Given the description of an element on the screen output the (x, y) to click on. 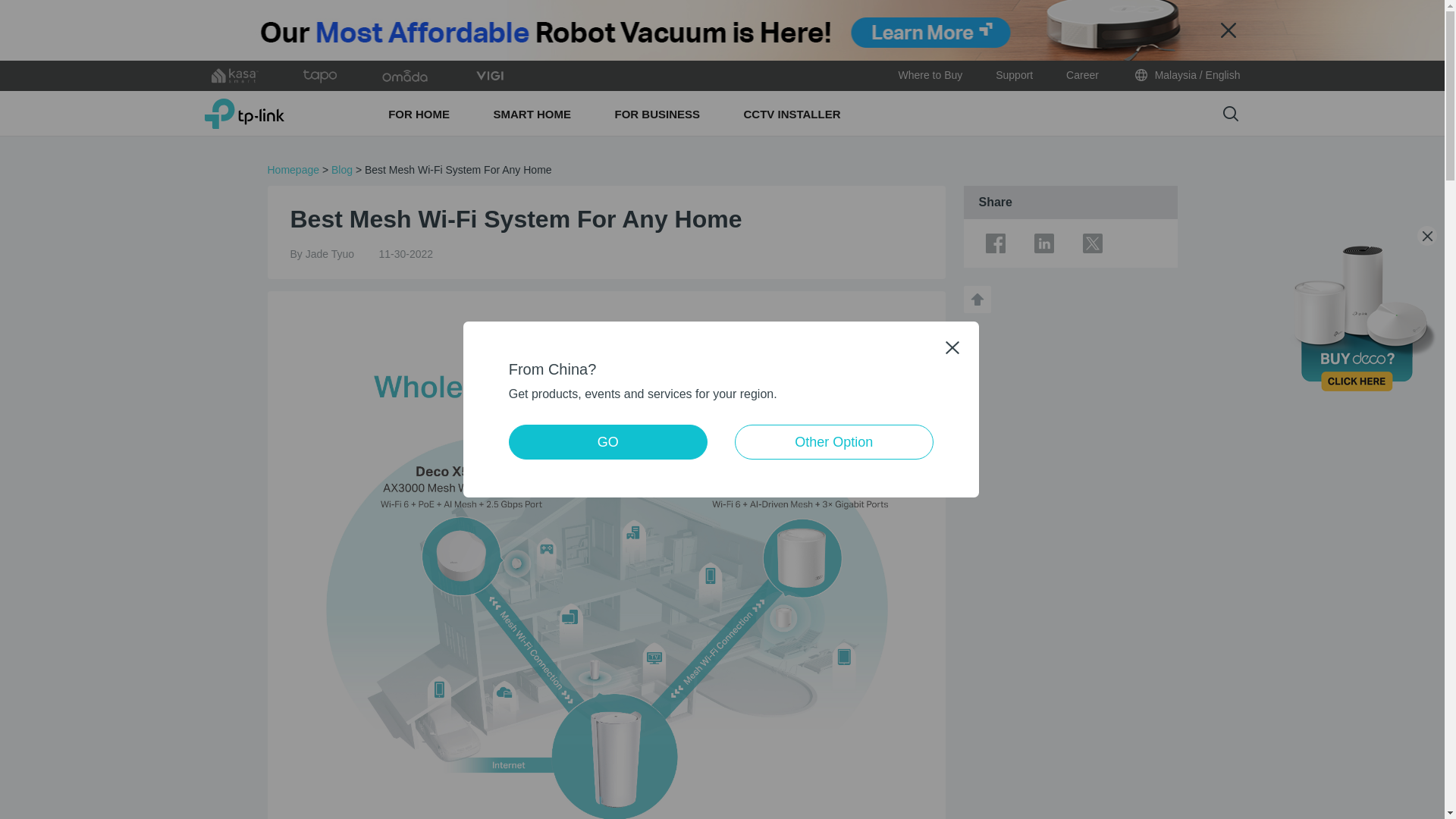
Career (1082, 75)
Search (1230, 113)
omada (404, 75)
Support (1013, 75)
Where to Buy (930, 75)
kasa (234, 75)
VIGI (489, 75)
tapo (319, 75)
FOR HOME (420, 113)
TP-Link, Reliably Smart (244, 113)
